Given the description of an element on the screen output the (x, y) to click on. 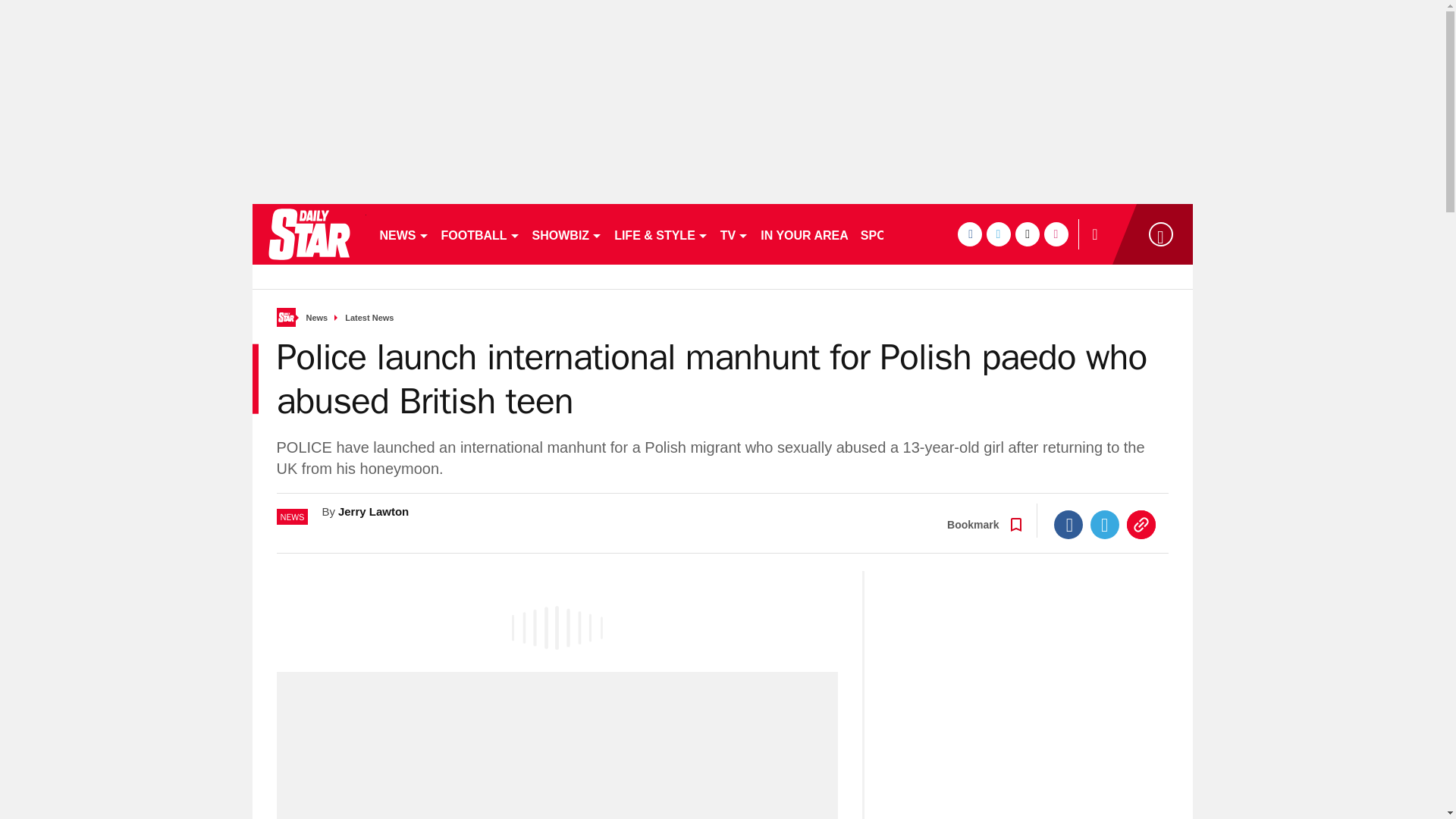
FOOTBALL (480, 233)
SHOWBIZ (566, 233)
NEWS (402, 233)
Twitter (1104, 524)
tiktok (1026, 233)
twitter (997, 233)
Facebook (1068, 524)
facebook (968, 233)
dailystar (308, 233)
instagram (1055, 233)
